Given the description of an element on the screen output the (x, y) to click on. 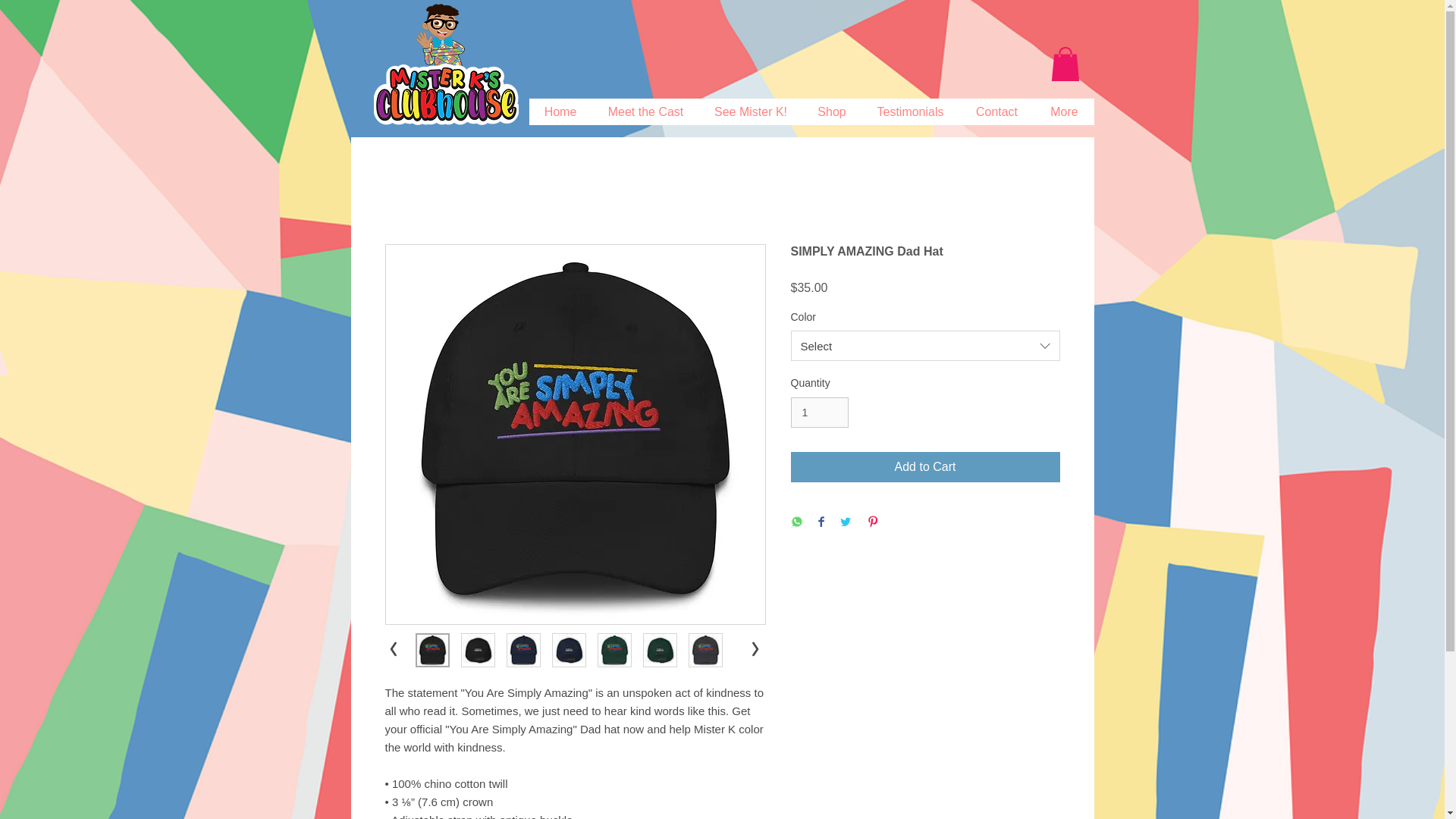
Meet the Cast (644, 111)
Add to Cart (924, 467)
Testimonials (910, 111)
Shop (831, 111)
Home (560, 111)
1 (818, 412)
Contact (995, 111)
Select (924, 345)
See Mister K! (750, 111)
